Given the description of an element on the screen output the (x, y) to click on. 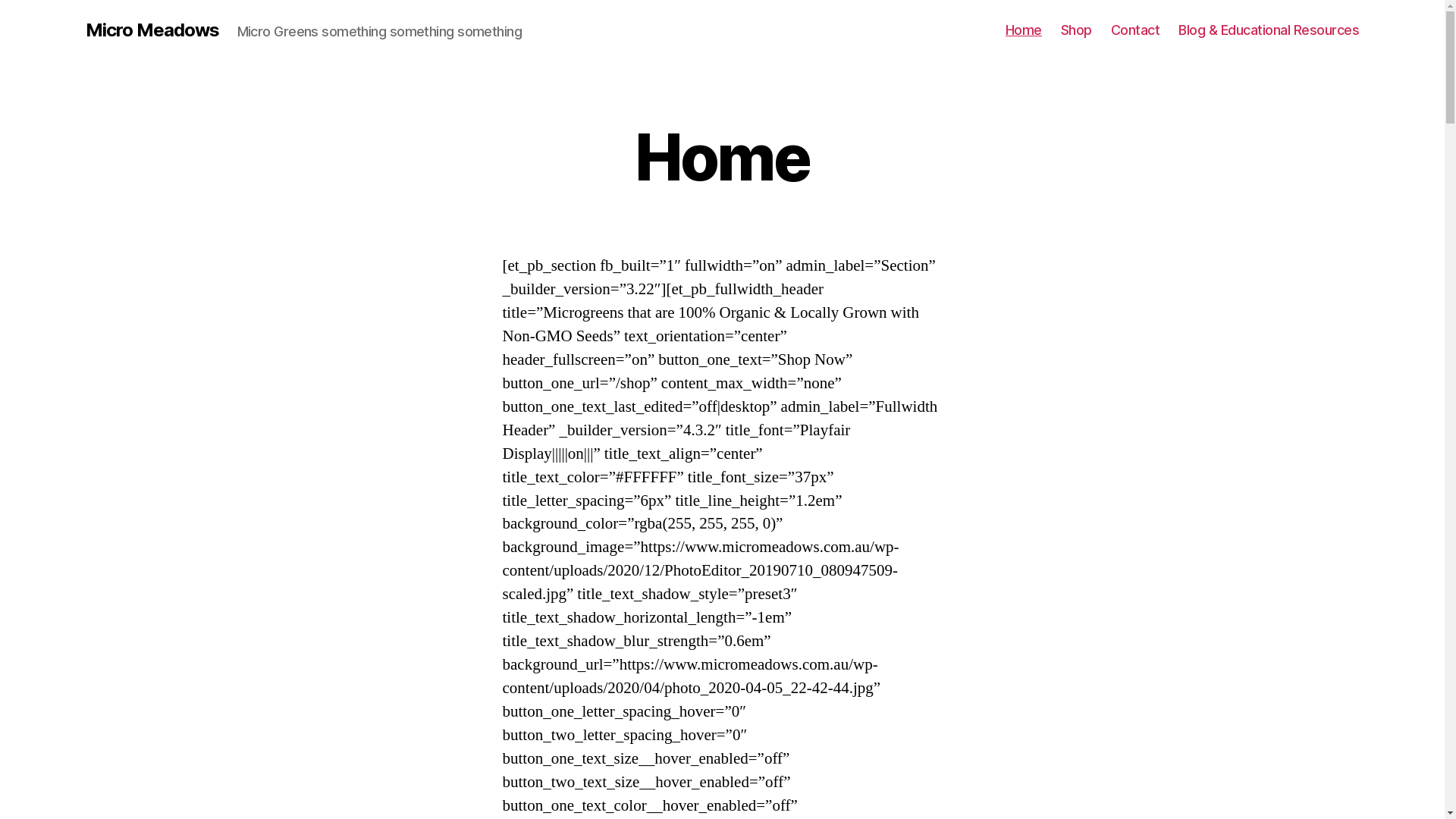
Micro Meadows Element type: text (151, 30)
Contact Element type: text (1135, 29)
Shop Element type: text (1076, 29)
Blog & Educational Resources Element type: text (1268, 29)
Home Element type: text (1023, 29)
